Given the description of an element on the screen output the (x, y) to click on. 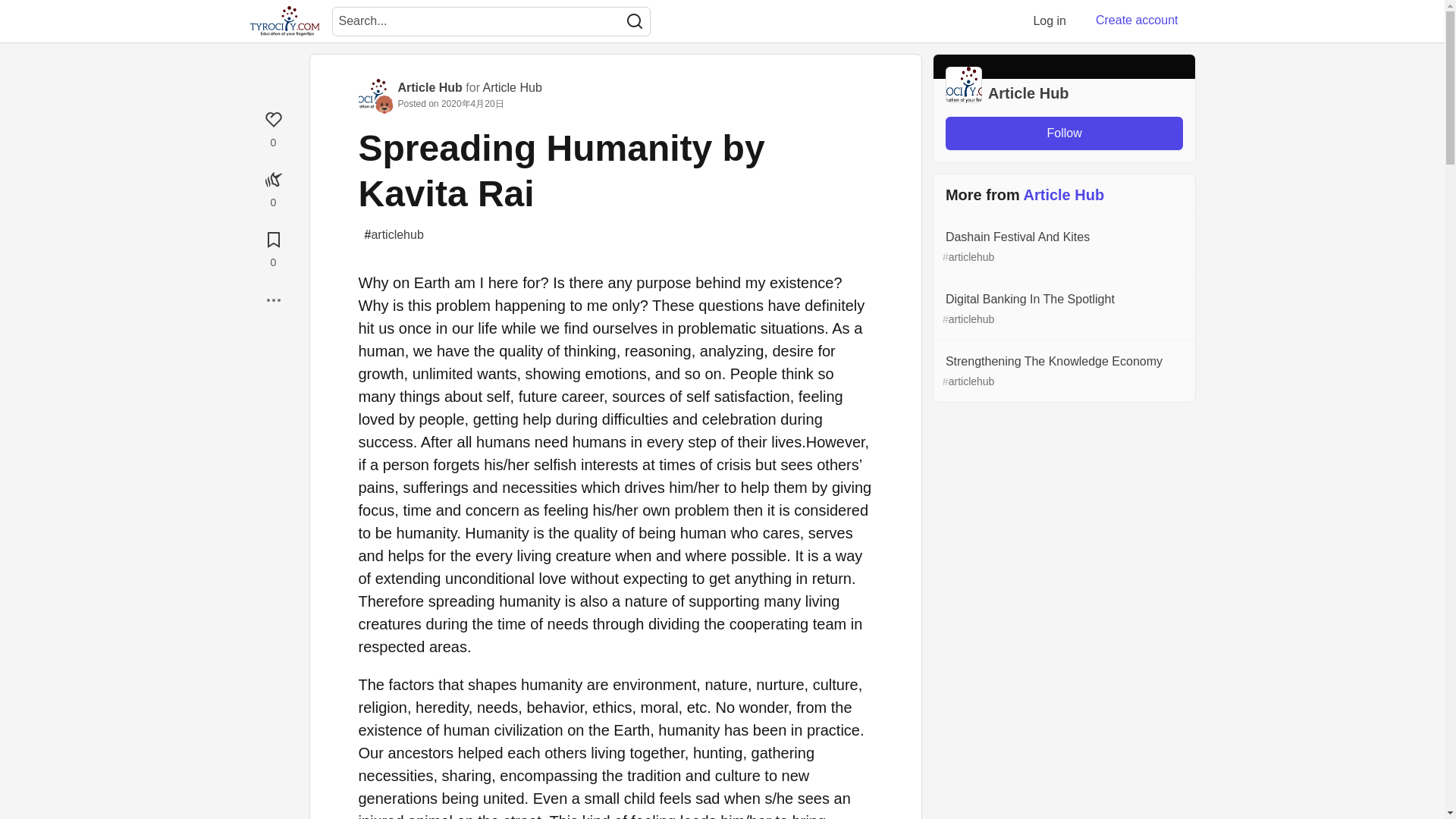
Article Hub (429, 87)
0 (272, 247)
Search (633, 21)
Create account (1136, 20)
0 (272, 127)
Log in (1049, 20)
Search (633, 21)
More... (272, 300)
Article Hub (512, 87)
0 (272, 187)
More... (272, 299)
